Given the description of an element on the screen output the (x, y) to click on. 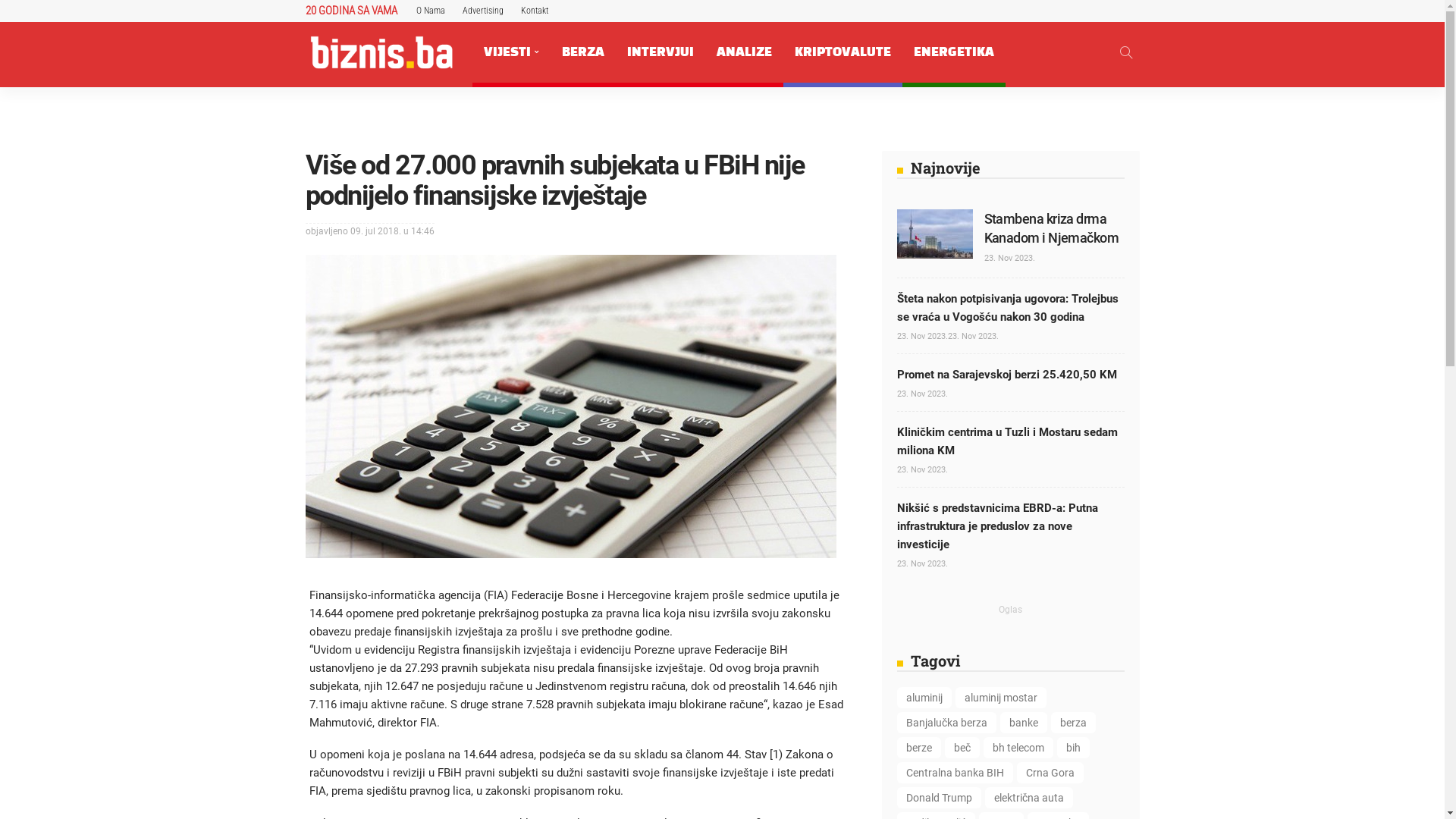
INTERVJUI Element type: text (660, 51)
ENERGETIKA Element type: text (953, 51)
VIJESTI Element type: text (510, 51)
Donald Trump Element type: text (938, 797)
aluminij Element type: text (923, 697)
Promet na Sarajevskoj berzi 25.420,50 KM Element type: text (1006, 374)
Biznis.ba Element type: hover (380, 52)
KRIPTOVALUTE Element type: text (841, 51)
bih Element type: text (1073, 747)
berze Element type: text (918, 747)
banke Element type: text (1022, 722)
bh telecom Element type: text (1017, 747)
search Element type: hover (1125, 51)
Centralna banka BIH Element type: text (954, 772)
aluminij mostar Element type: text (1000, 697)
O Nama Element type: text (429, 10)
Advertising Element type: text (483, 10)
BERZA Element type: text (582, 51)
berza Element type: text (1073, 722)
Crna Gora Element type: text (1049, 772)
Kontakt Element type: text (533, 10)
ANALIZE Element type: text (744, 51)
